Given the description of an element on the screen output the (x, y) to click on. 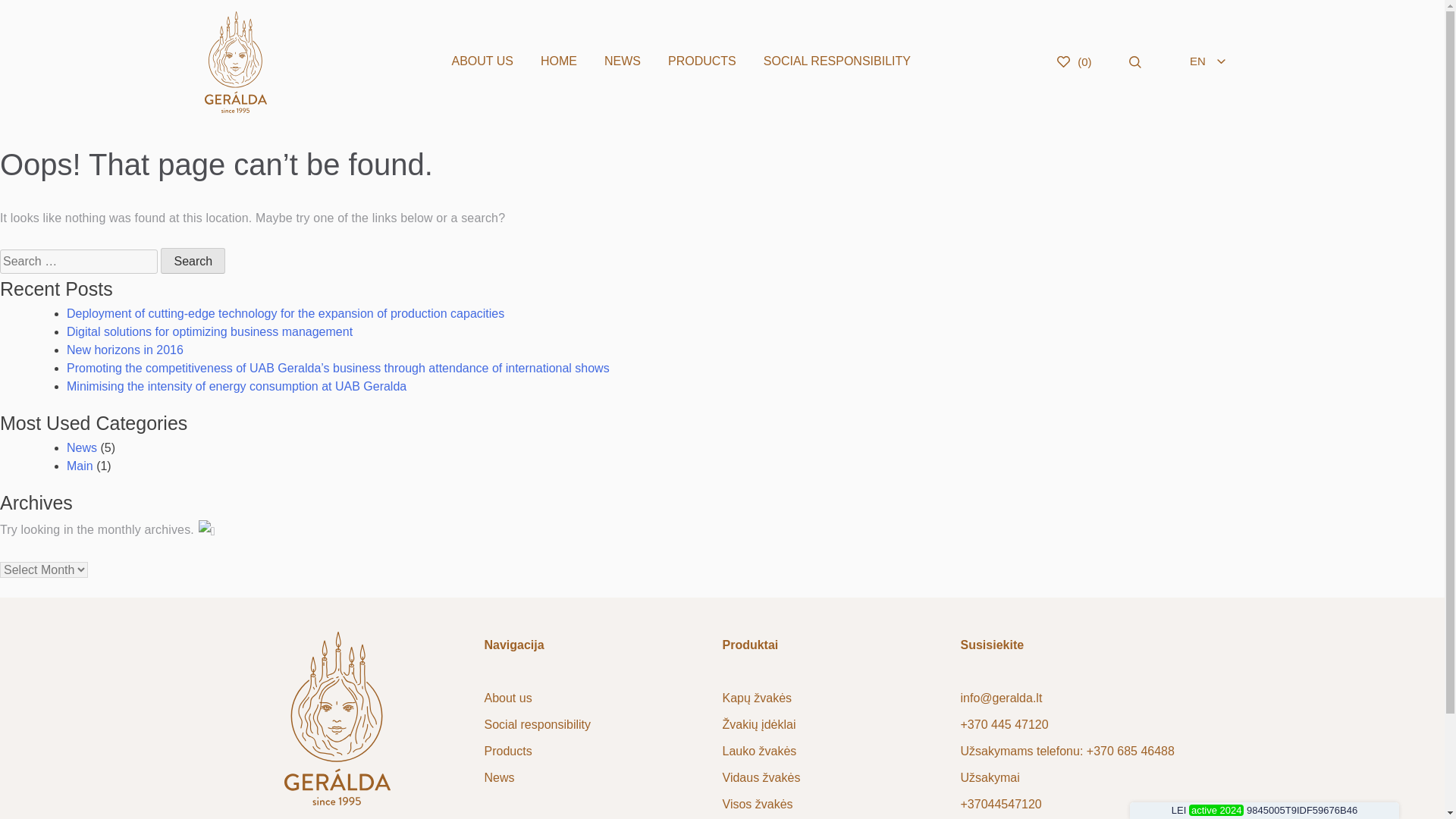
Main (79, 465)
New horizons in 2016 (124, 349)
EN (1207, 61)
About us (507, 697)
Search (192, 260)
News (81, 447)
Social responsibility (537, 724)
Search (192, 260)
